Given the description of an element on the screen output the (x, y) to click on. 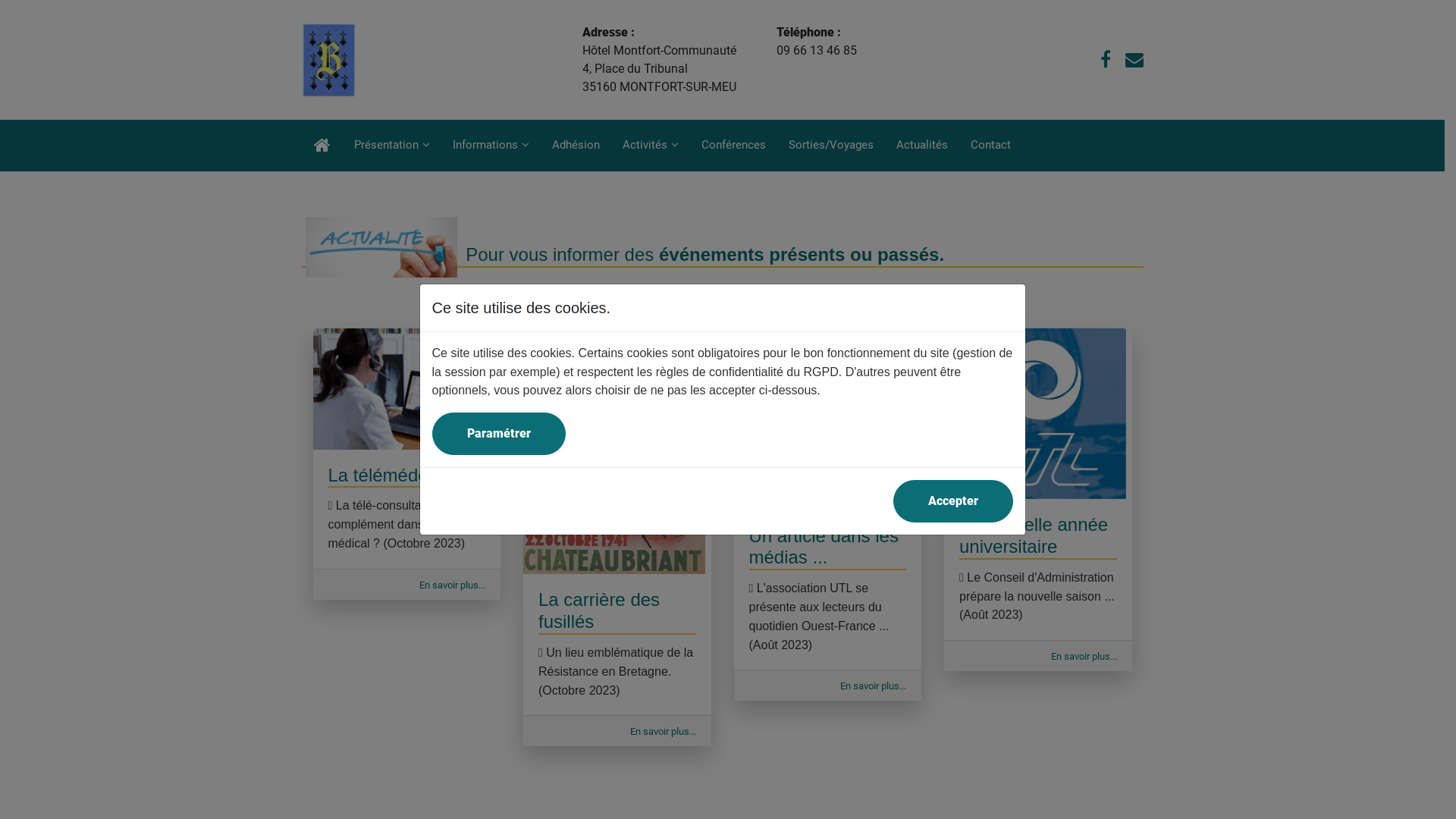
En savoir plus... Element type: text (1084, 656)
Informations Element type: text (490, 143)
En savoir plus... Element type: text (662, 731)
Contact Element type: text (989, 143)
En savoir plus... Element type: text (873, 685)
Accepter Element type: text (953, 501)
En savoir plus... Element type: text (452, 584)
Sorties/Voyages Element type: text (830, 143)
